Given the description of an element on the screen output the (x, y) to click on. 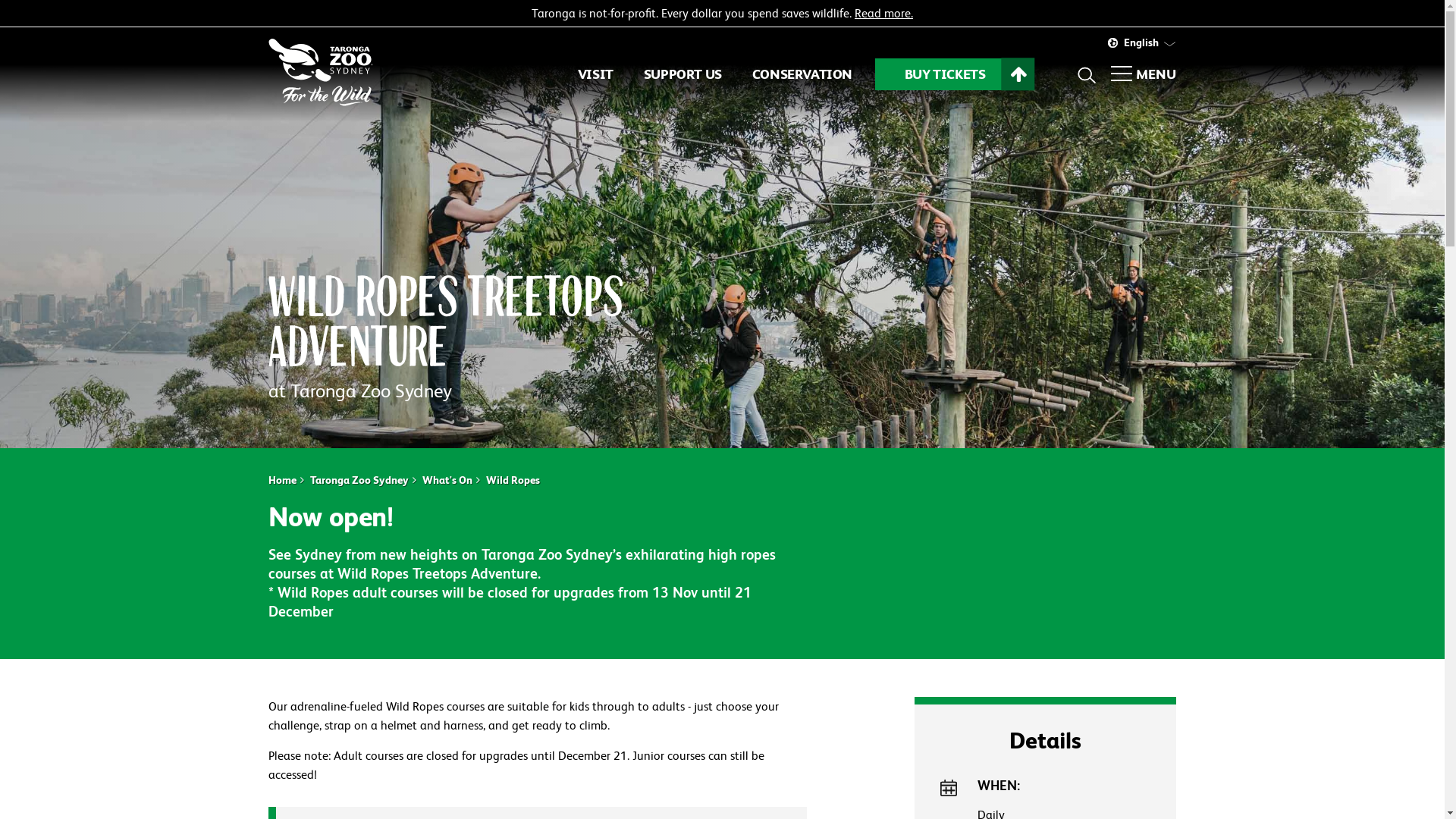
Search Element type: text (1086, 74)
Taronga Zoo Sydney Element type: text (359, 479)
What's On Element type: text (447, 479)
BUY TICKETS Element type: text (944, 74)
BUY TICKETS Element type: text (944, 74)
MENU Element type: text (1155, 73)
Read more. Element type: text (883, 13)
Home Element type: text (282, 479)
English Element type: text (1140, 42)
Extended Menu Element type: text (1121, 74)
VISIT Element type: text (595, 74)
Taronga Conservation Society Australia Element type: hover (330, 75)
SUPPORT US Element type: text (682, 74)
CONSERVATION Element type: text (801, 74)
